Given the description of an element on the screen output the (x, y) to click on. 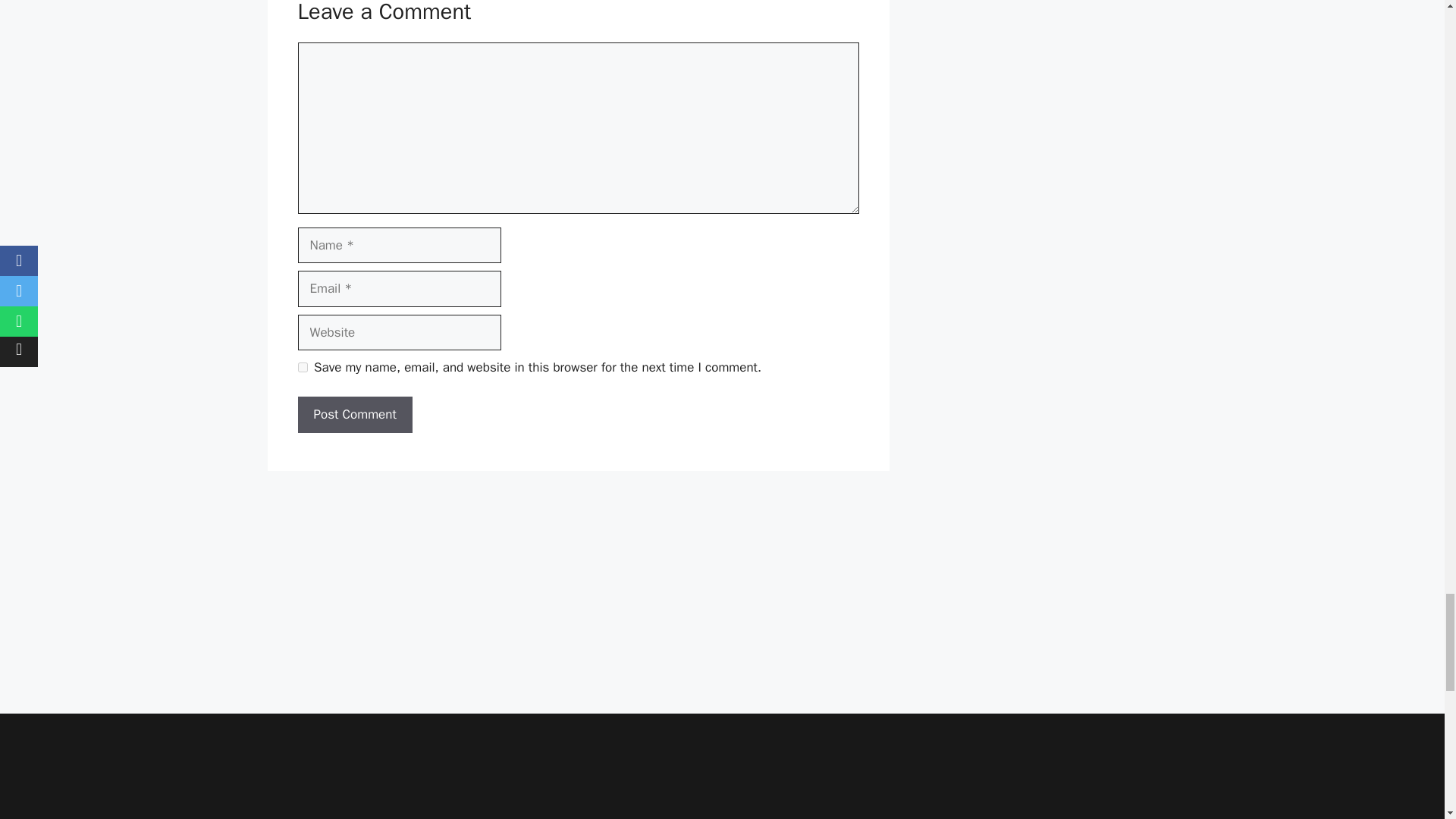
Post Comment (354, 414)
yes (302, 367)
Post Comment (354, 414)
